Given the description of an element on the screen output the (x, y) to click on. 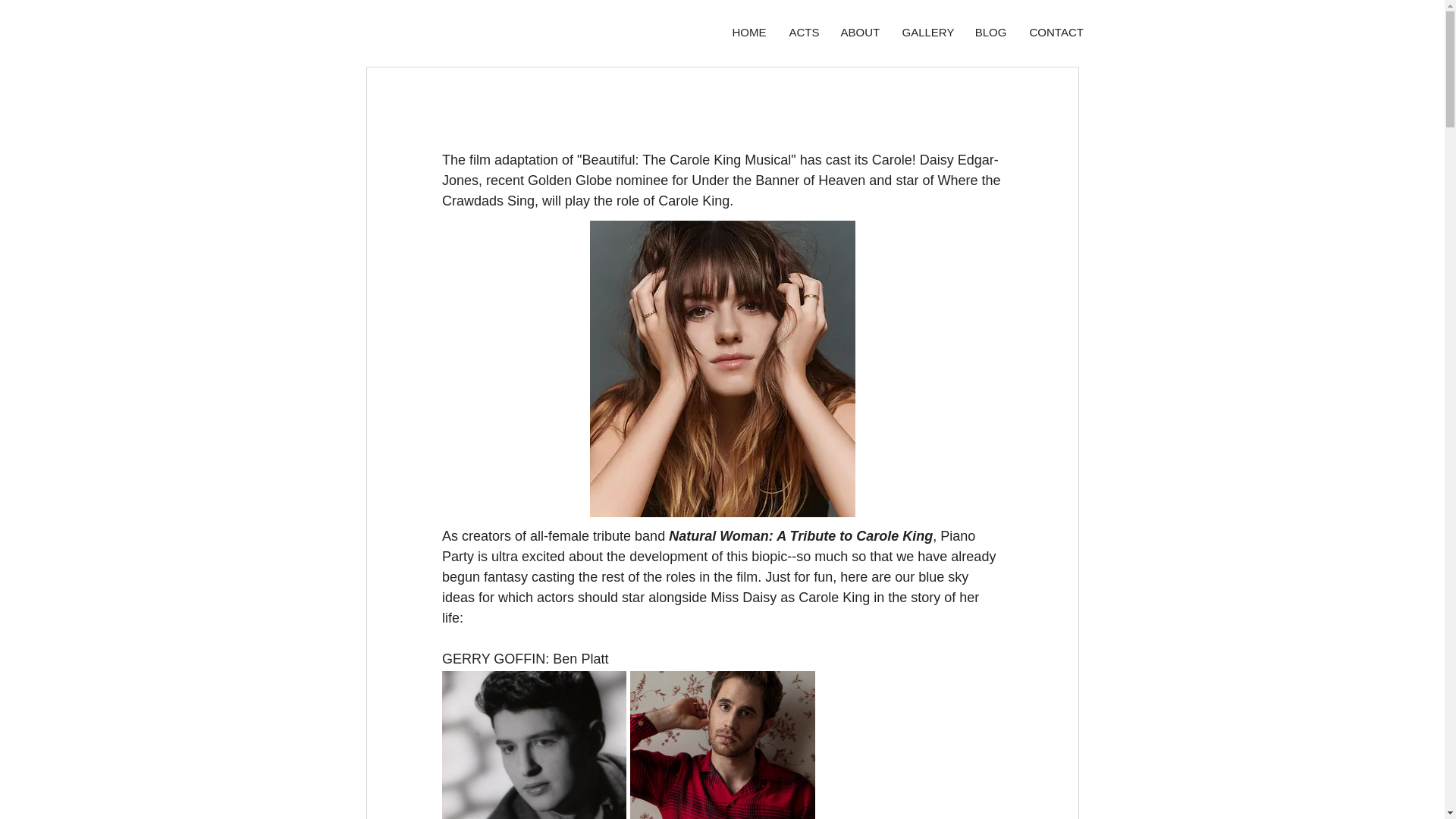
GALLERY (925, 31)
HOME (748, 31)
ABOUT (860, 31)
ACTS (803, 31)
BLOG (989, 31)
CONTACT (1055, 31)
